Given the description of an element on the screen output the (x, y) to click on. 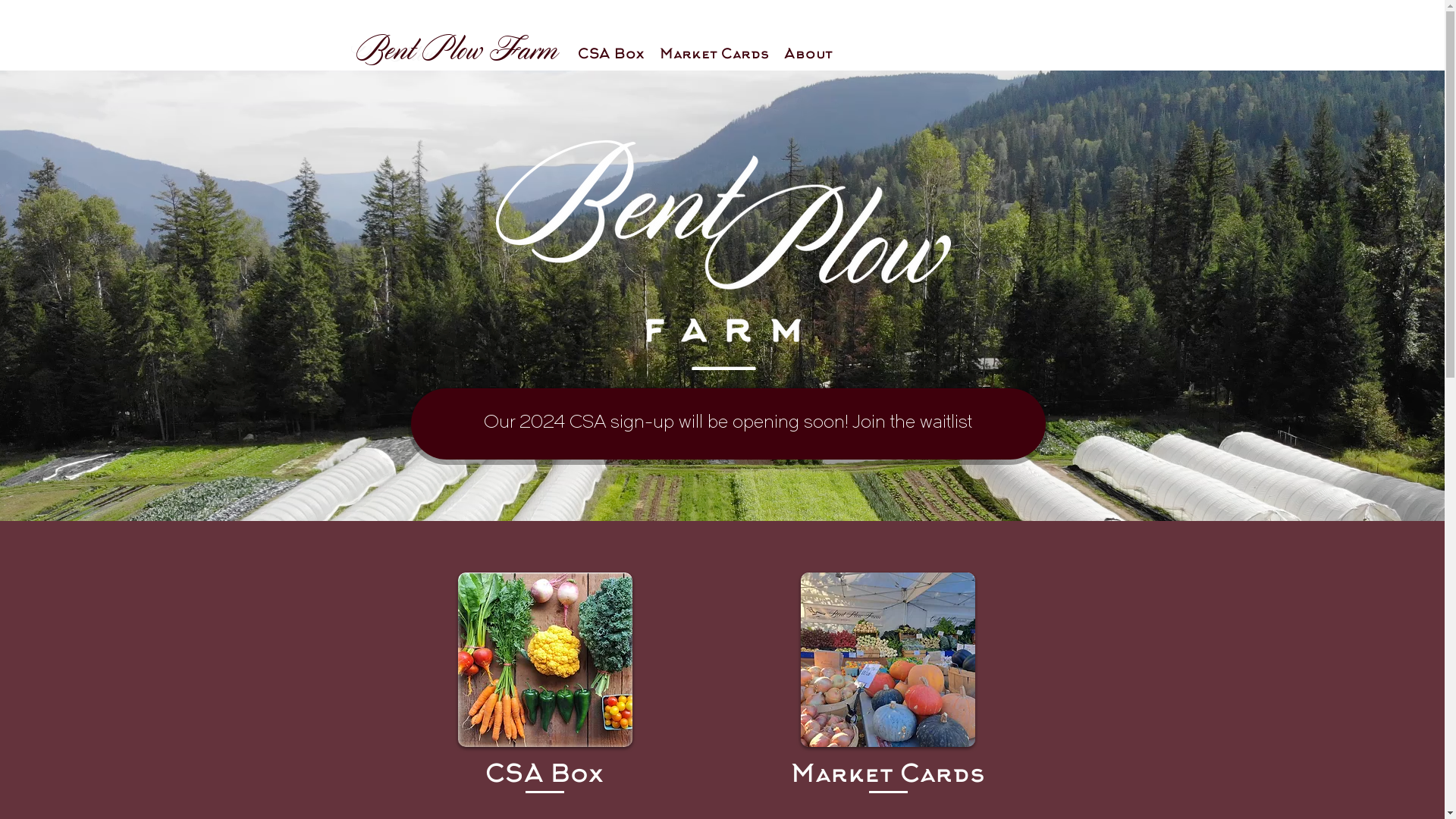
Market Cards Element type: text (887, 775)
Bent Plow Farm Element type: text (455, 49)
About Element type: text (808, 54)
Market Cards Element type: text (714, 54)
Our 2024 CSA sign-up will be opening soon! Join the waitlist Element type: text (728, 423)
CSA Box Element type: text (611, 54)
CSA Box Element type: text (544, 775)
